Given the description of an element on the screen output the (x, y) to click on. 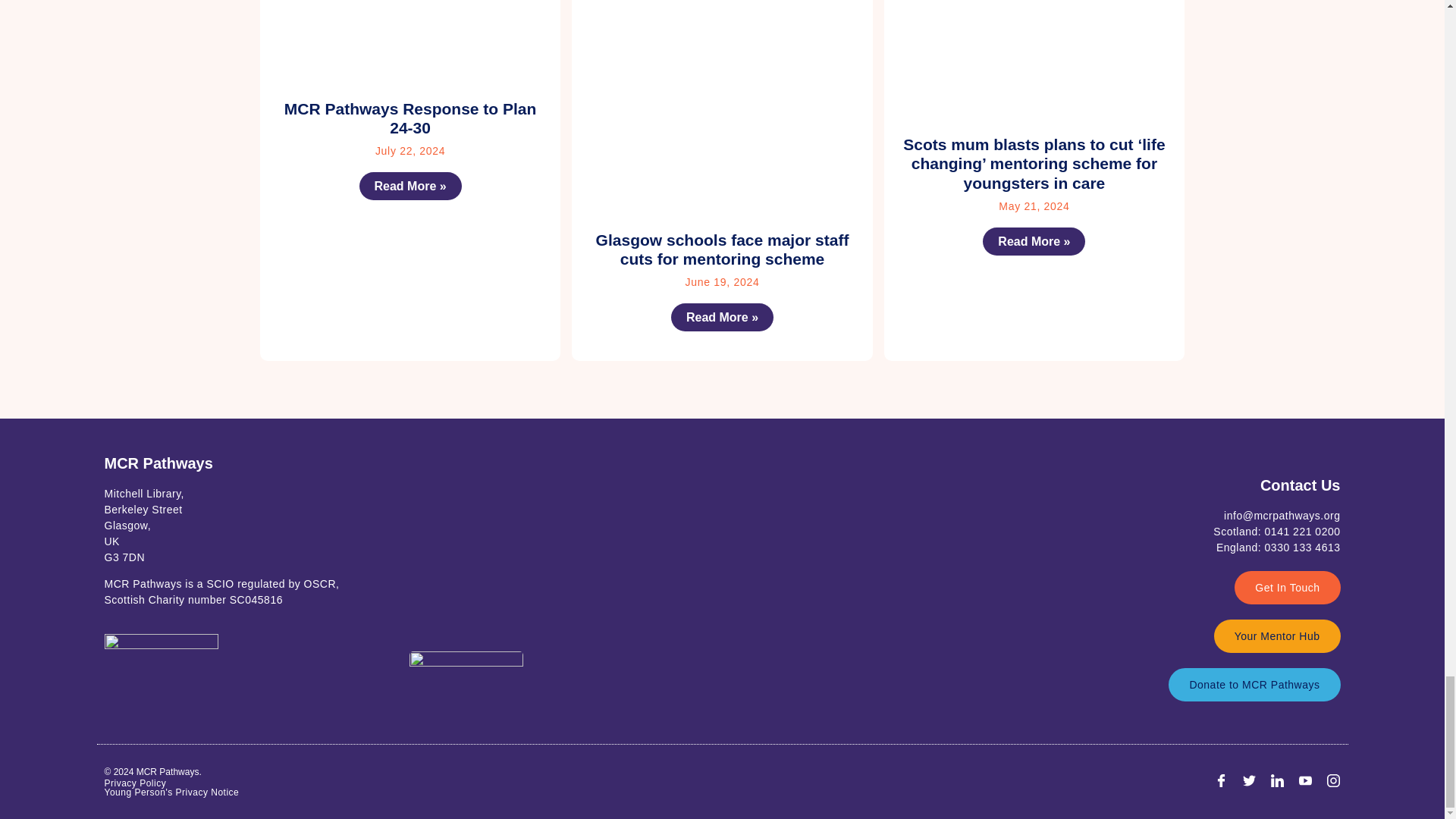
Glasgow schools face major staff cuts for mentoring scheme (721, 248)
Your Mentor Hub (1277, 635)
Donate to MCR Pathways (1254, 684)
Get In Touch (1286, 587)
MCR Pathways Response to Plan 24-30 (410, 117)
